Given the description of an element on the screen output the (x, y) to click on. 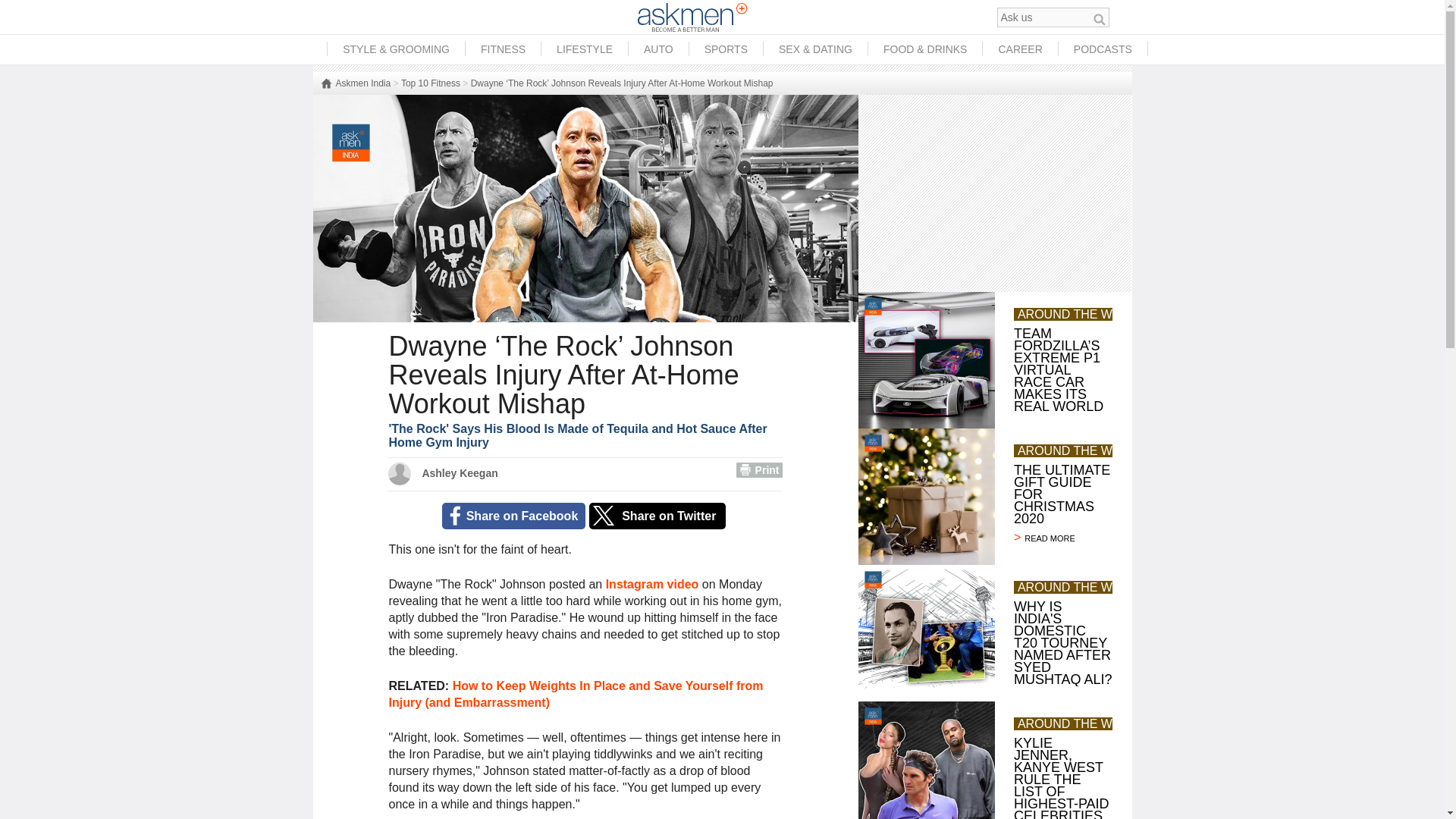
PODCASTS (1103, 49)
Askmen India (355, 83)
Top 10 Fitness (430, 83)
FITNESS (502, 49)
Askmen India (355, 83)
CAREER (1019, 49)
SPORTS (726, 49)
Instagram video (651, 584)
LIFESTYLE (584, 49)
